Given the description of an element on the screen output the (x, y) to click on. 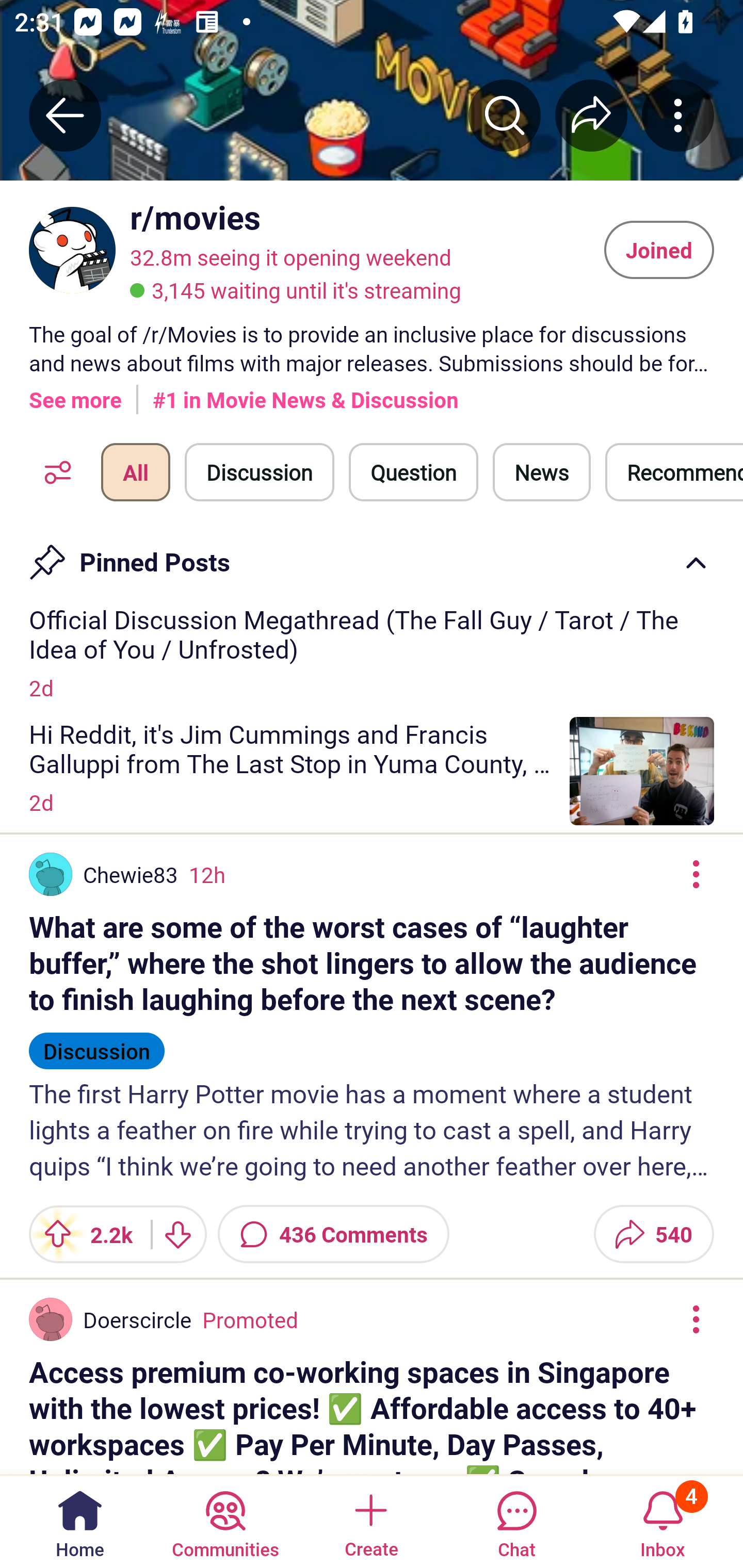
Back (64, 115)
Search r/﻿movies (504, 115)
Share r/﻿movies (591, 115)
More community actions (677, 115)
Feed Options (53, 472)
All (135, 472)
Discussion (259, 472)
Question (413, 472)
News (541, 472)
Recommendation (674, 472)
Pin Pinned Posts Caret (371, 555)
Discussion (96, 1042)
Home (80, 1520)
Communities (225, 1520)
Create a post Create (370, 1520)
Chat (516, 1520)
Inbox, has 4 notifications 4 Inbox (662, 1520)
